Given the description of an element on the screen output the (x, y) to click on. 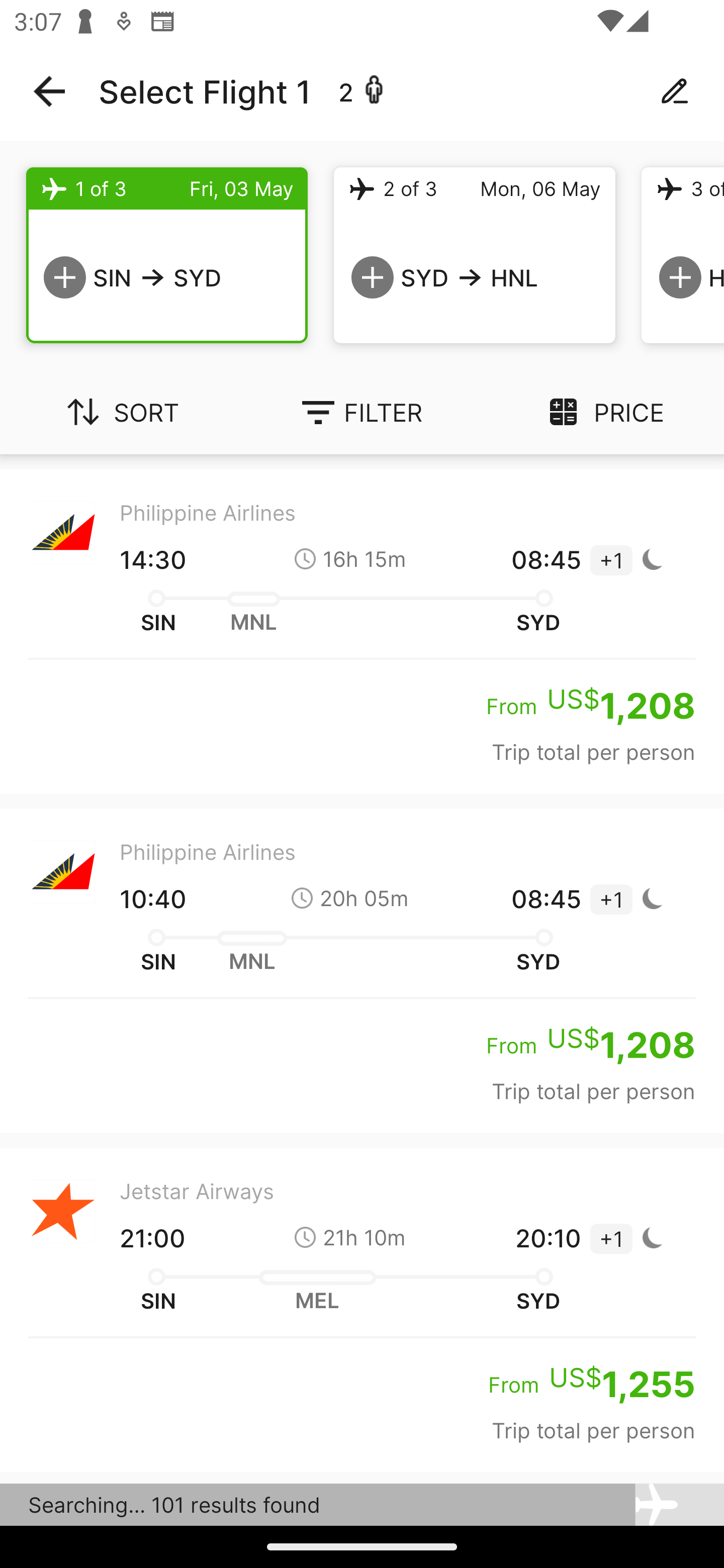
Select Flight 1   2 - (362, 91)
1 of 3 Fri, 03 May SIN SYD (166, 255)
2 of 3 Mon, 06 May SYD HNL (474, 255)
SORT (120, 412)
FILTER (361, 412)
PRICE (603, 412)
Jetstar Airways (362, 1498)
